Given the description of an element on the screen output the (x, y) to click on. 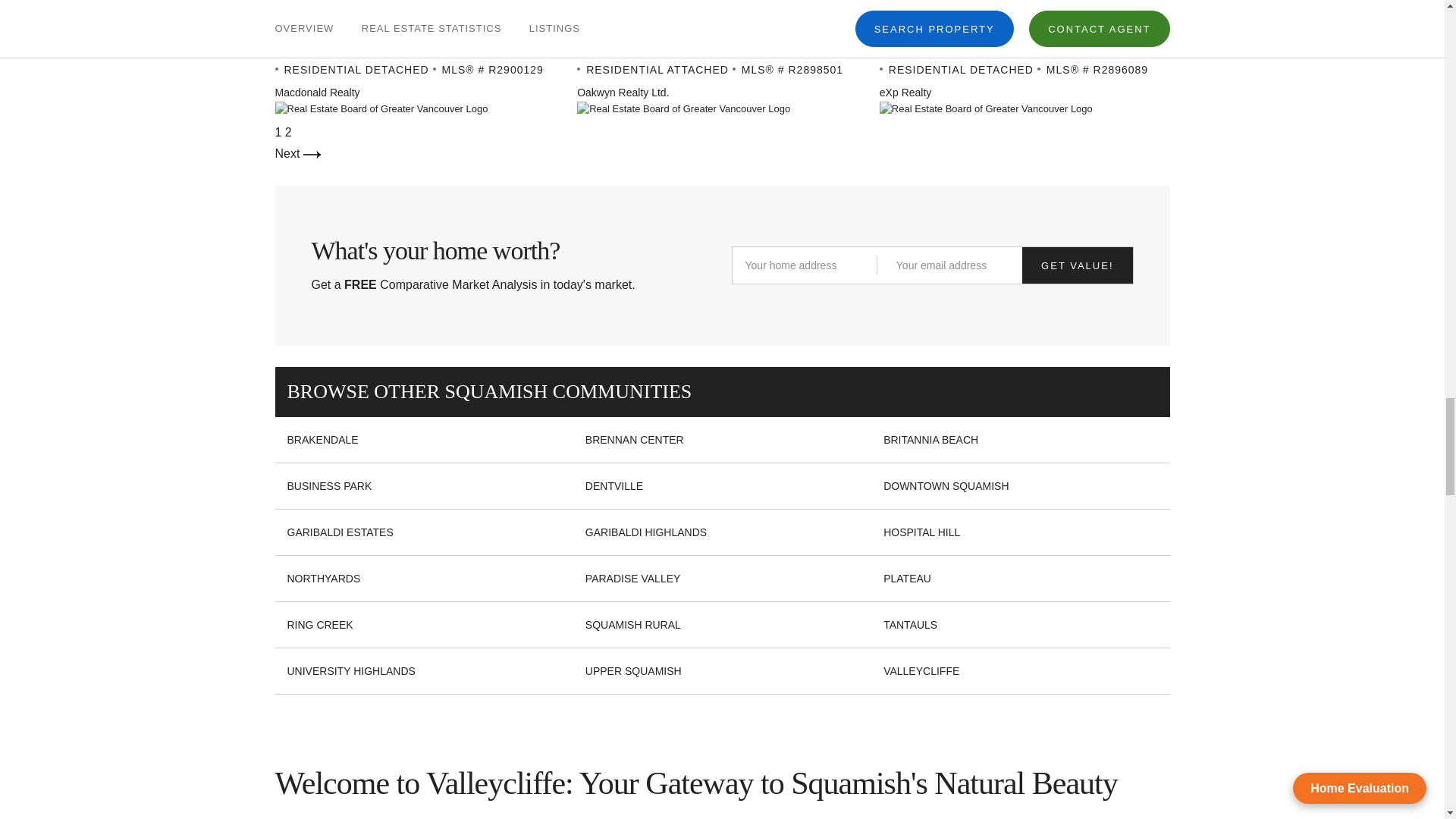
Next Page (297, 153)
